Given the description of an element on the screen output the (x, y) to click on. 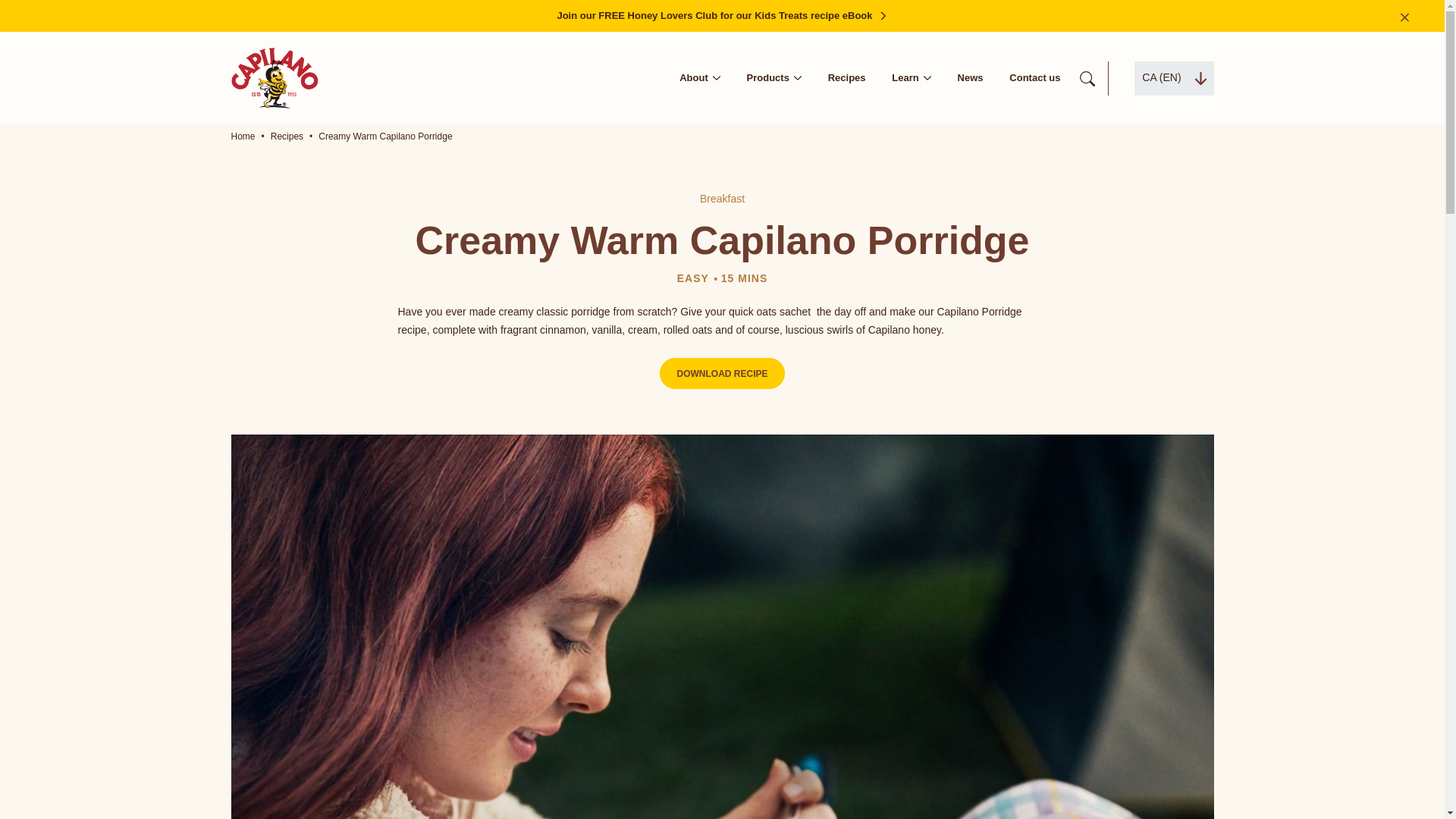
Recipes (847, 78)
Contact us (1034, 78)
About (699, 78)
Products (774, 78)
Breakfast (722, 198)
DOWNLOAD RECIPE (721, 373)
Home (242, 136)
News (971, 78)
Learn (910, 78)
